Given the description of an element on the screen output the (x, y) to click on. 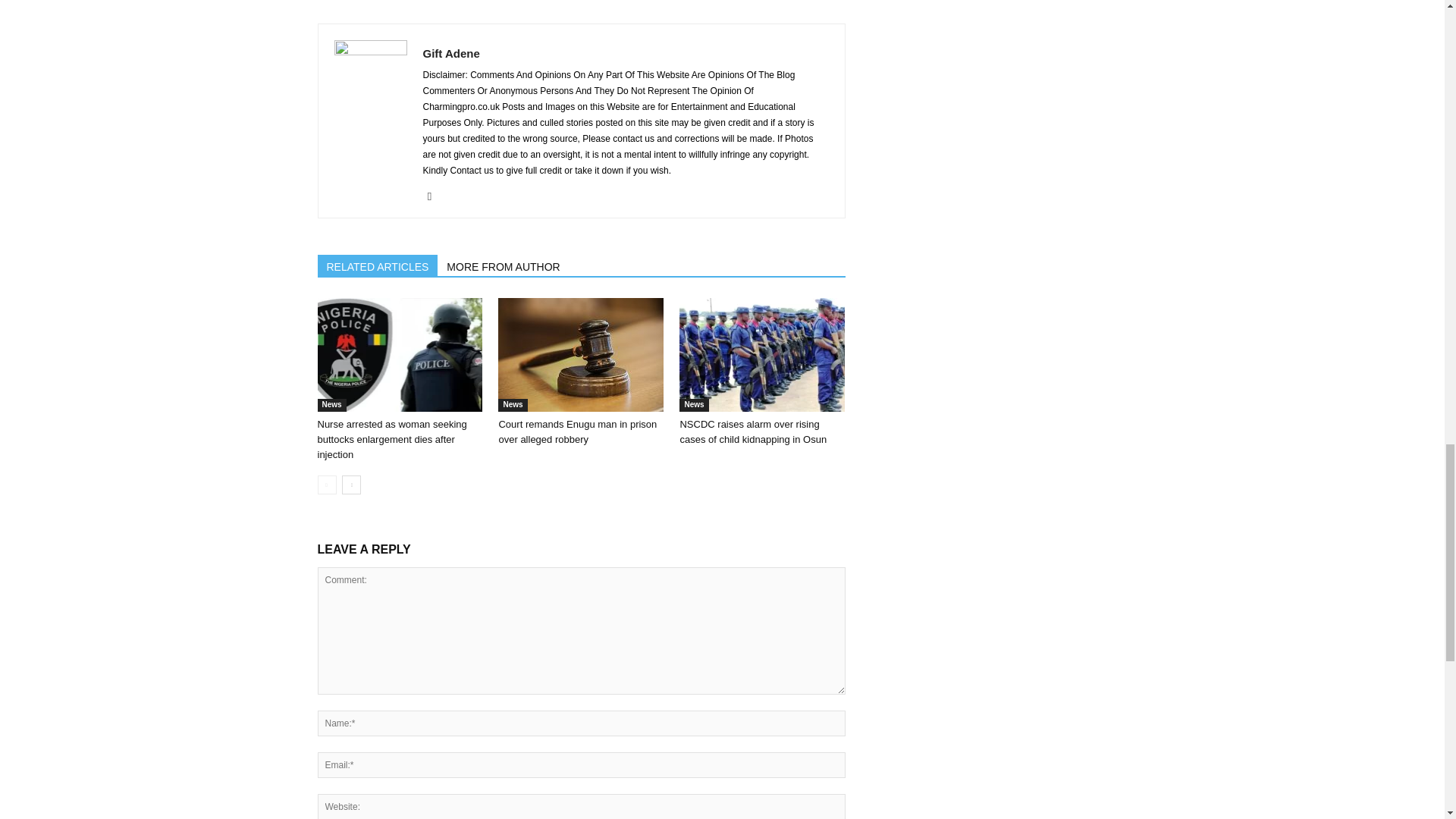
Court remands Enugu man in prison over alleged robbery (580, 354)
Youtube (435, 196)
